Given the description of an element on the screen output the (x, y) to click on. 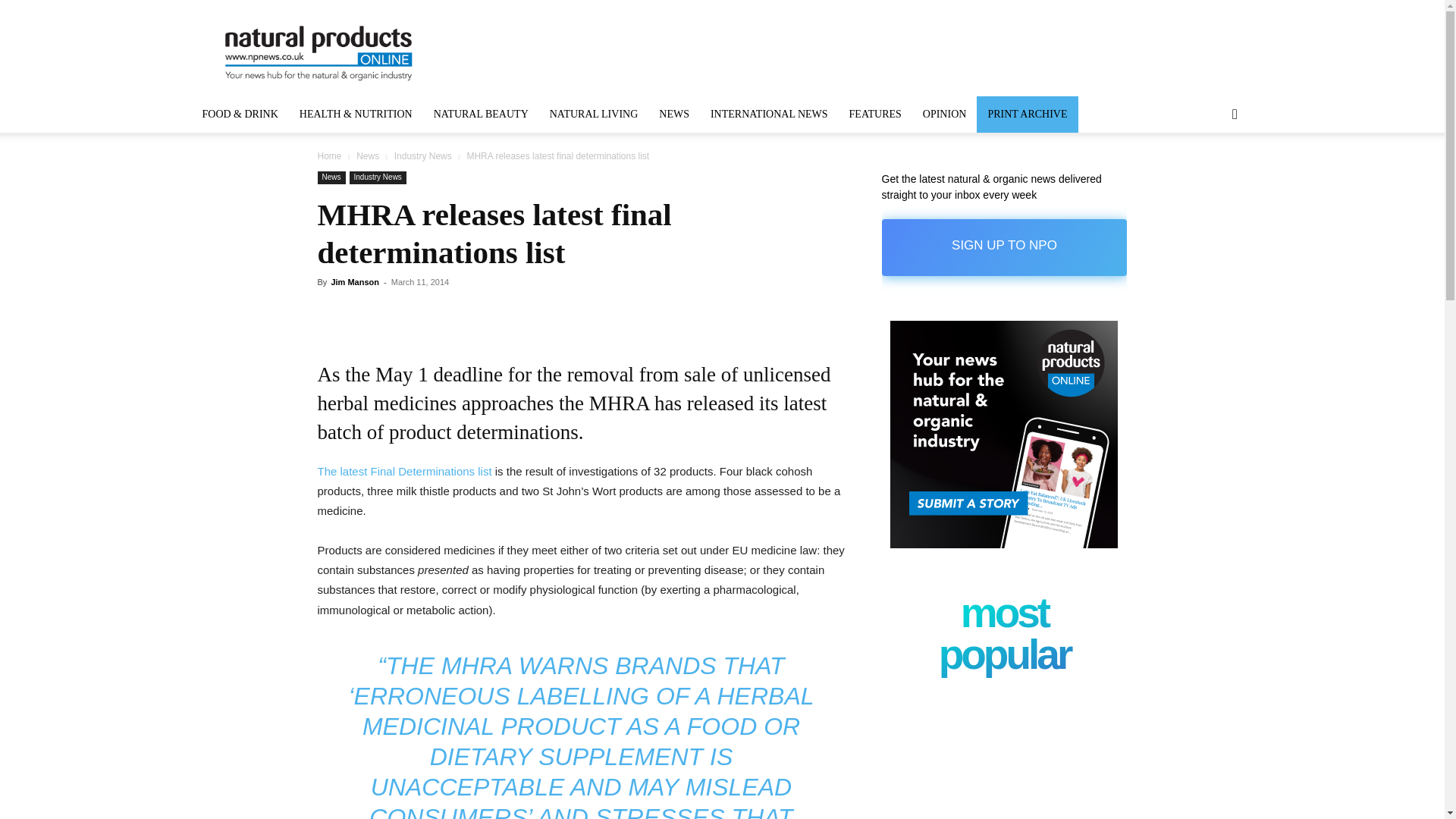
Home (328, 155)
FEATURES (875, 114)
News (331, 177)
News (367, 155)
INTERNATIONAL NEWS (769, 114)
Jim Manson (354, 281)
NEWS (673, 114)
OPINION (944, 114)
PRINT ARCHIVE (1026, 114)
NATURAL LIVING (593, 114)
Industry News (422, 155)
Industry News (377, 177)
View all posts in Industry News (422, 155)
Search (1210, 174)
NATURAL BEAUTY (480, 114)
